Given the description of an element on the screen output the (x, y) to click on. 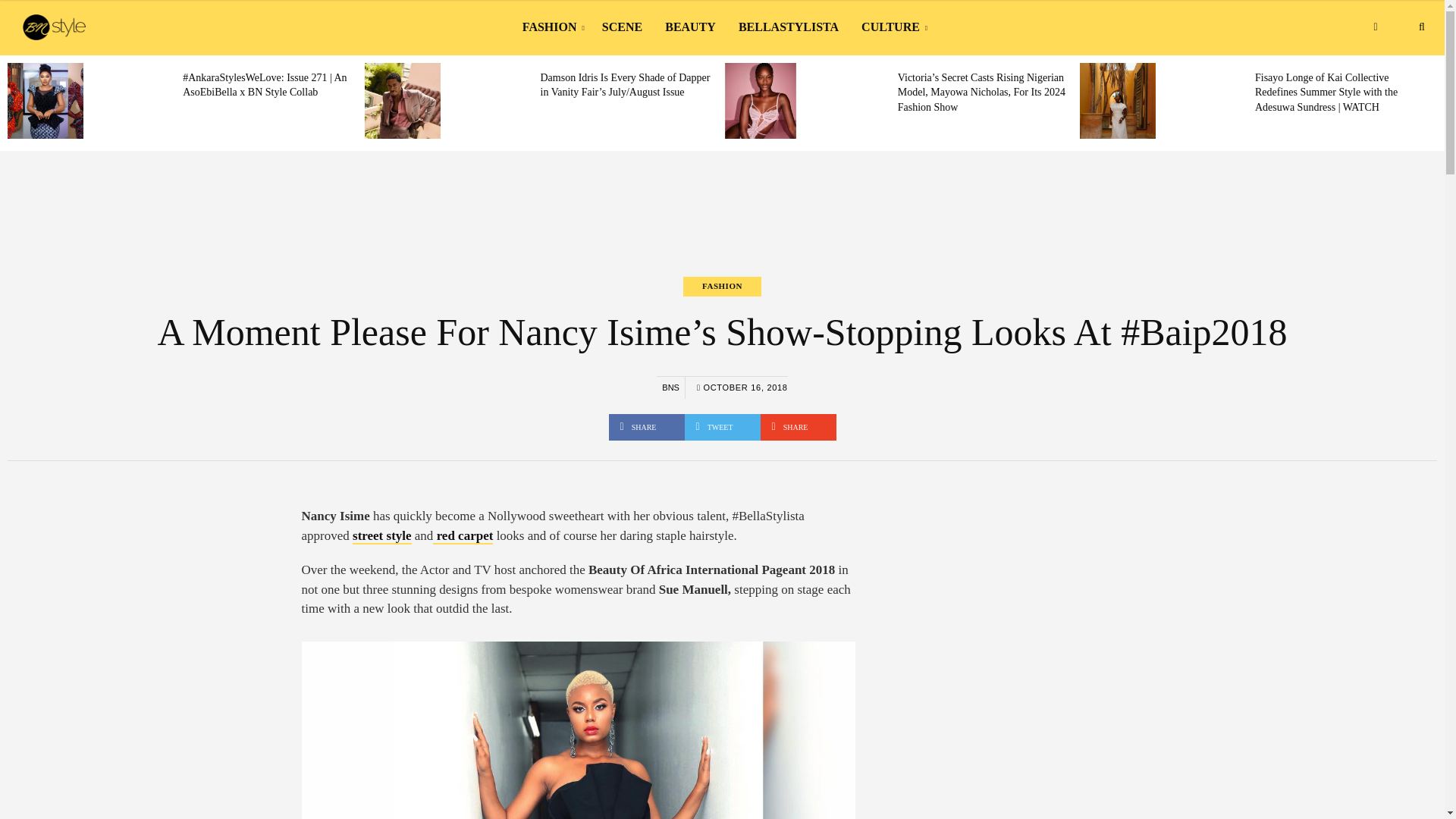
FASHION (551, 27)
Search (1421, 27)
SCENE (622, 27)
BEAUTY (689, 27)
BELLASTYLISTA (788, 27)
CULTURE (891, 27)
